Given the description of an element on the screen output the (x, y) to click on. 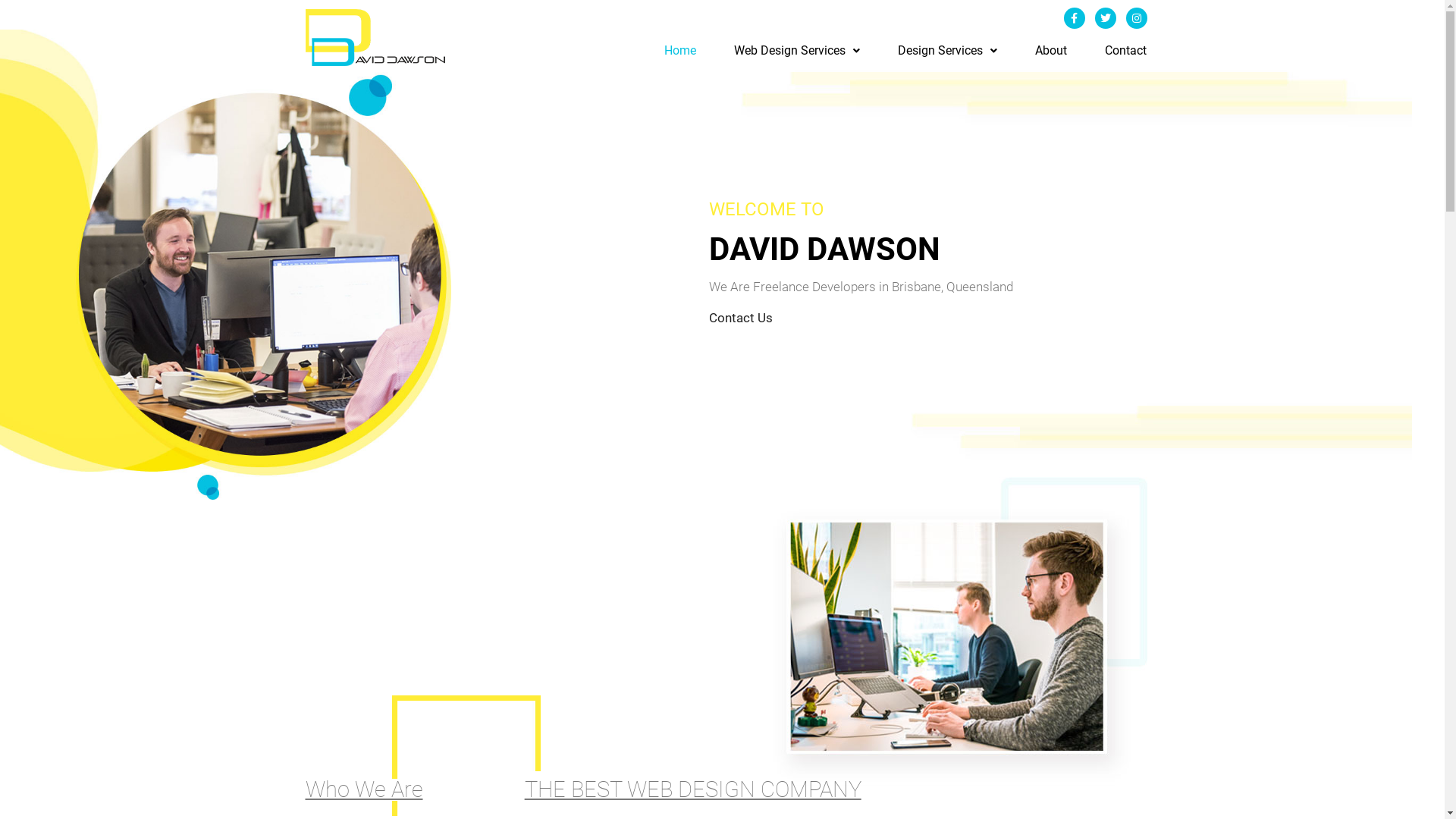
Contact Element type: text (1125, 50)
Web Design Services Element type: text (796, 50)
Design Services Element type: text (947, 50)
Home Element type: text (680, 50)
About Element type: text (1050, 50)
